Given the description of an element on the screen output the (x, y) to click on. 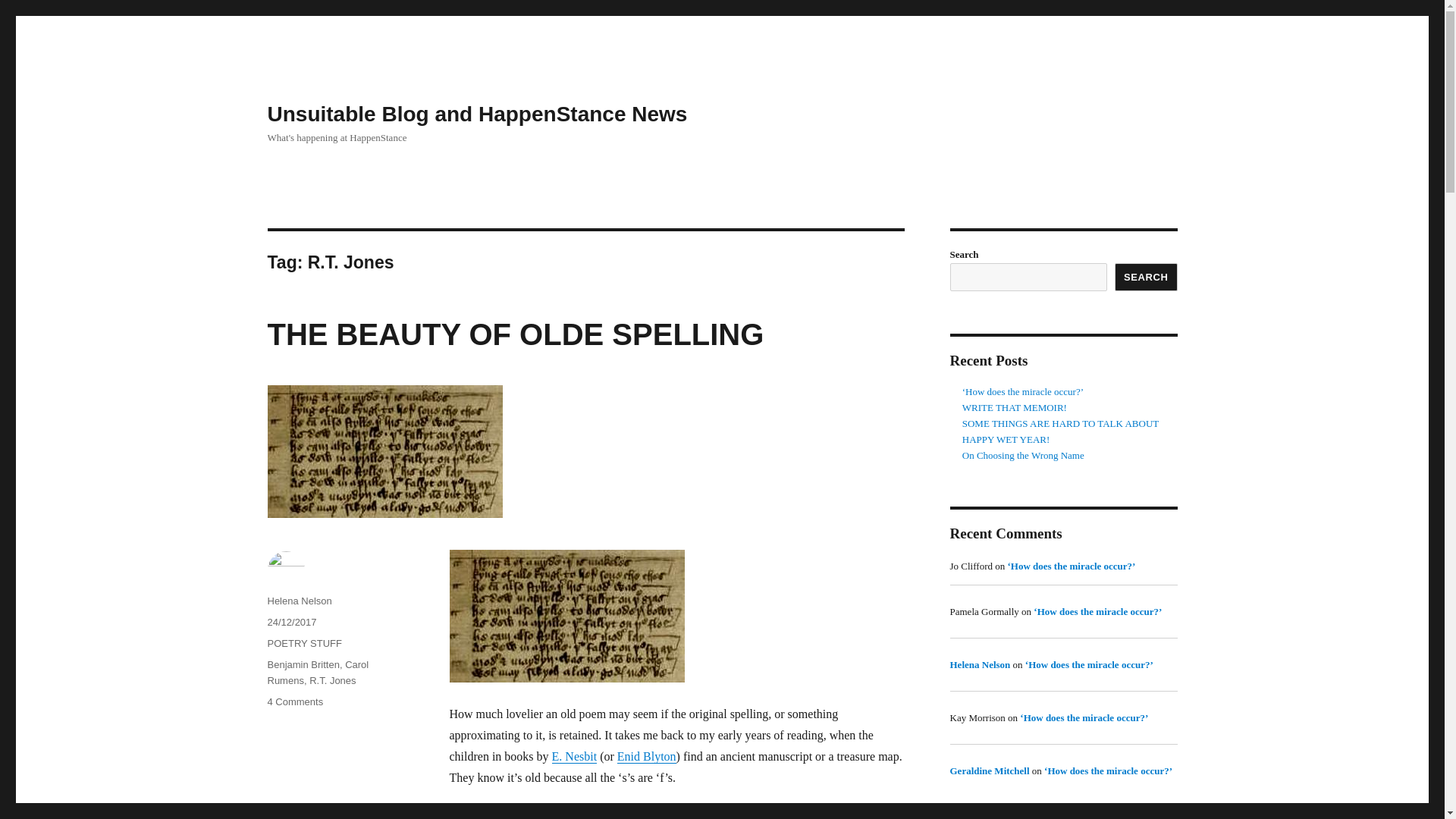
Helena Nelson (979, 664)
WRITE THAT MEMOIR! (1014, 407)
Enid Blyton (647, 756)
Unsuitable Blog and HappenStance News (294, 701)
HAPPY WET YEAR! (476, 114)
SOME THINGS ARE HARD TO TALK ABOUT (1005, 439)
POETRY STUFF (1060, 423)
E. Nesbit (303, 643)
Geraldine Mitchell (573, 756)
